Given the description of an element on the screen output the (x, y) to click on. 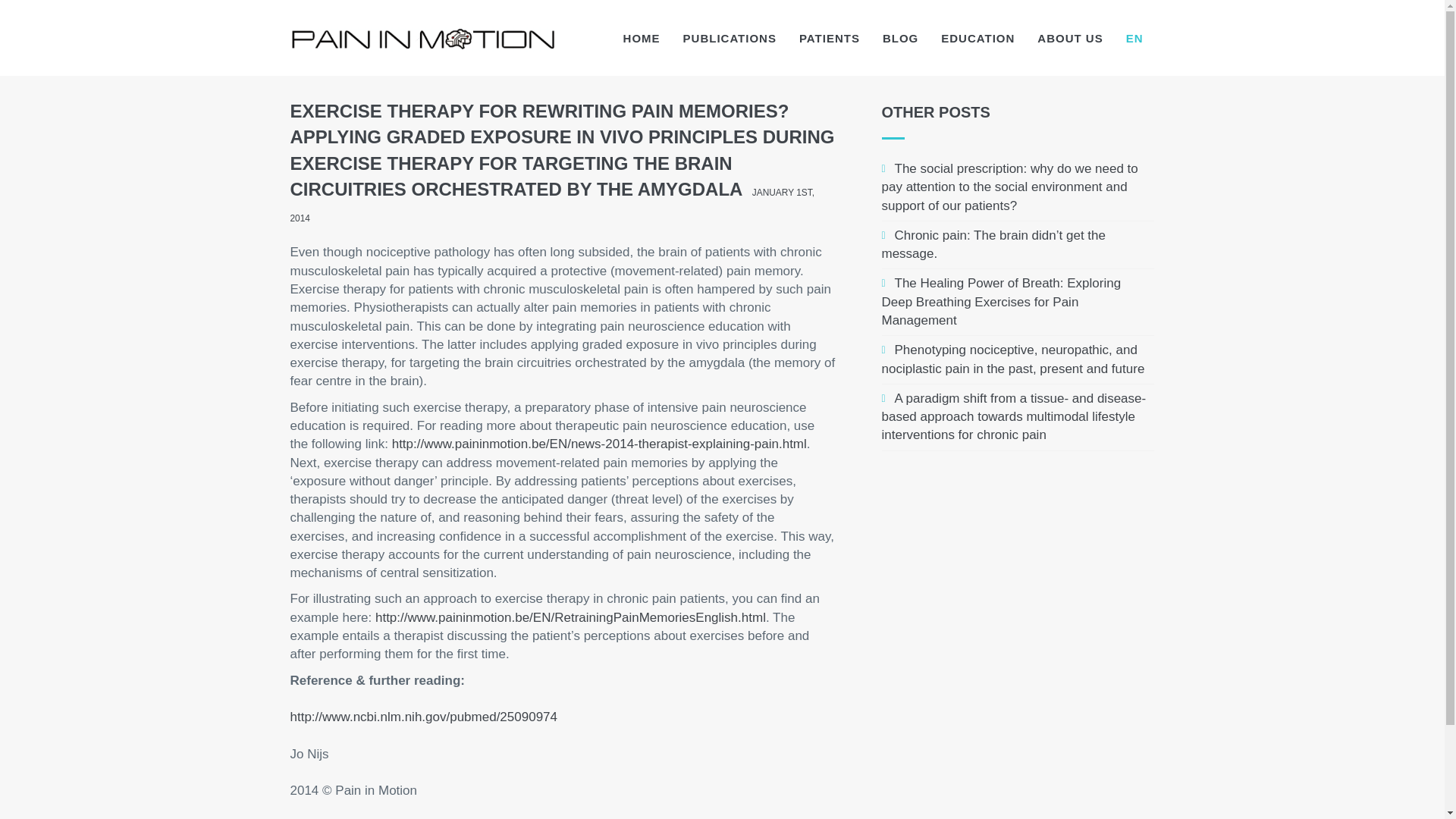
PATIENTS (828, 38)
ABOUT US (1069, 38)
PUBLICATIONS (729, 38)
EDUCATION (978, 38)
